Given the description of an element on the screen output the (x, y) to click on. 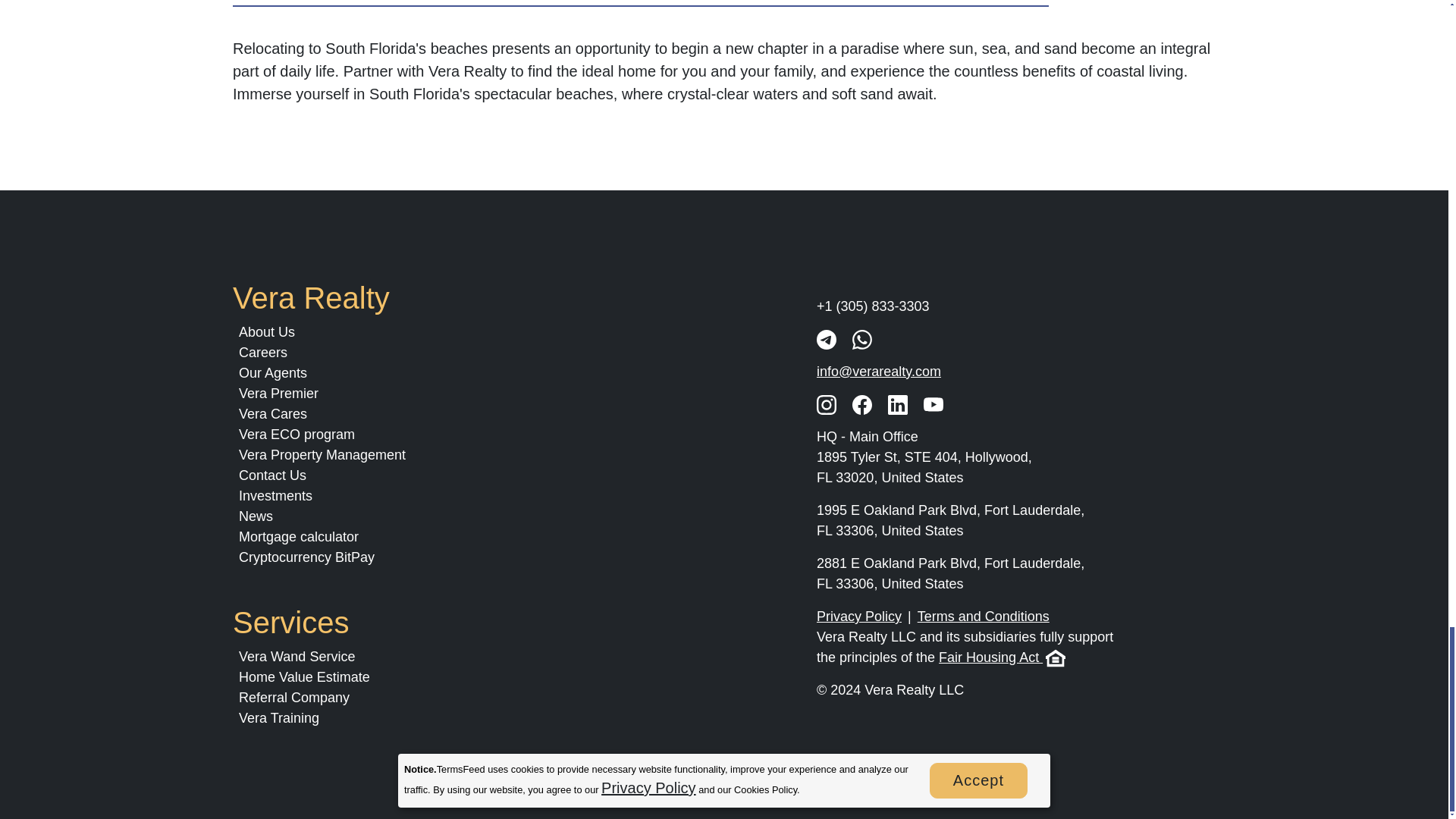
Investments (275, 495)
Cryptocurrency BitPay (306, 557)
Vera Property Management (322, 454)
Our Agents (272, 372)
About Us (266, 331)
Vera Training (278, 717)
Vera ECO program (296, 434)
Careers (262, 352)
Home Value Estimate (303, 676)
Vera Wand Service (296, 656)
News (255, 516)
Referral Company (293, 697)
Vera Cares (272, 413)
Vera Premier (278, 393)
Contact Us (271, 475)
